Given the description of an element on the screen output the (x, y) to click on. 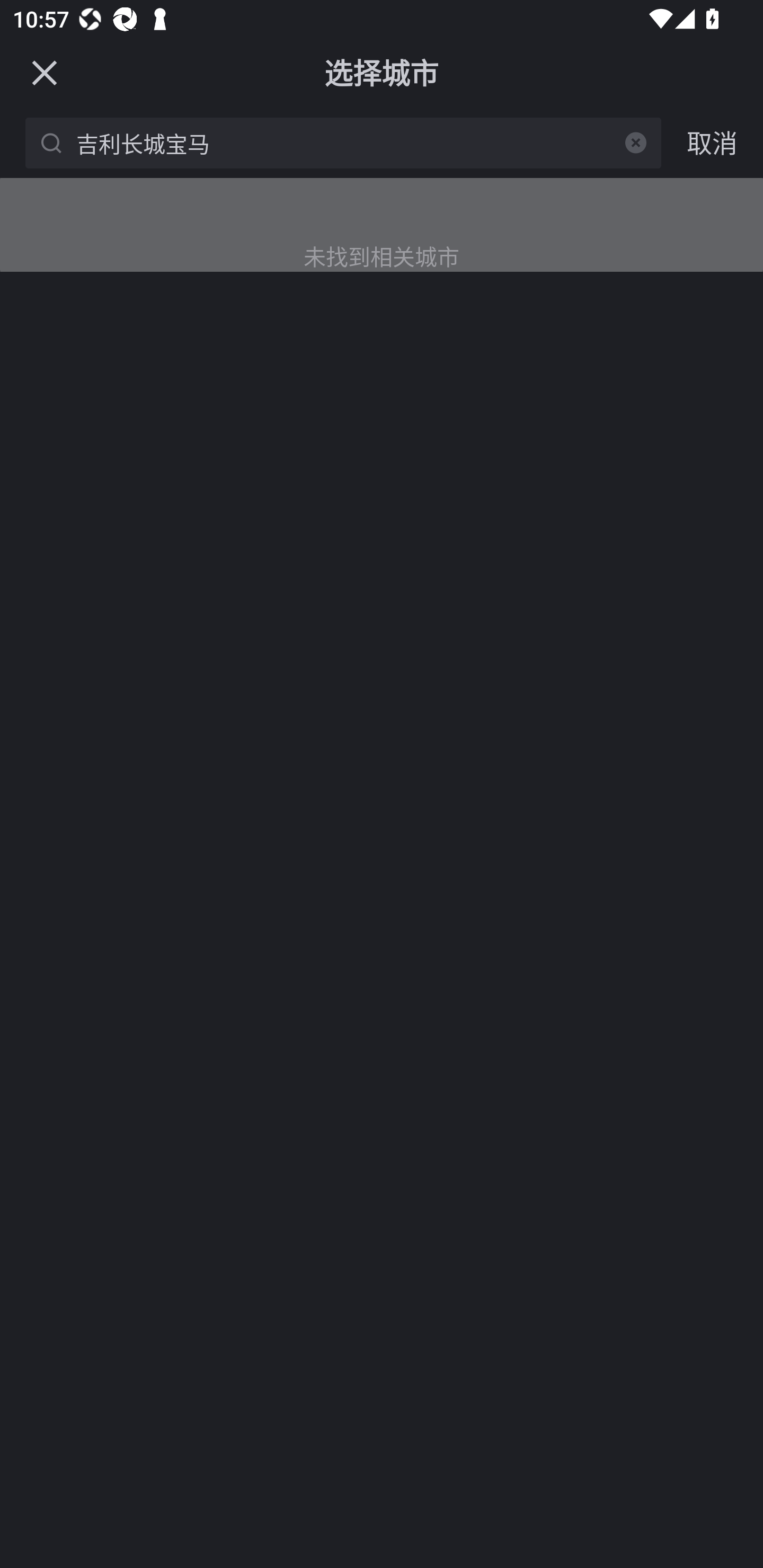
 (44, 71)
取消 (711, 142)
吉利长城宝马 (346, 142)
 (635, 142)
